Given the description of an element on the screen output the (x, y) to click on. 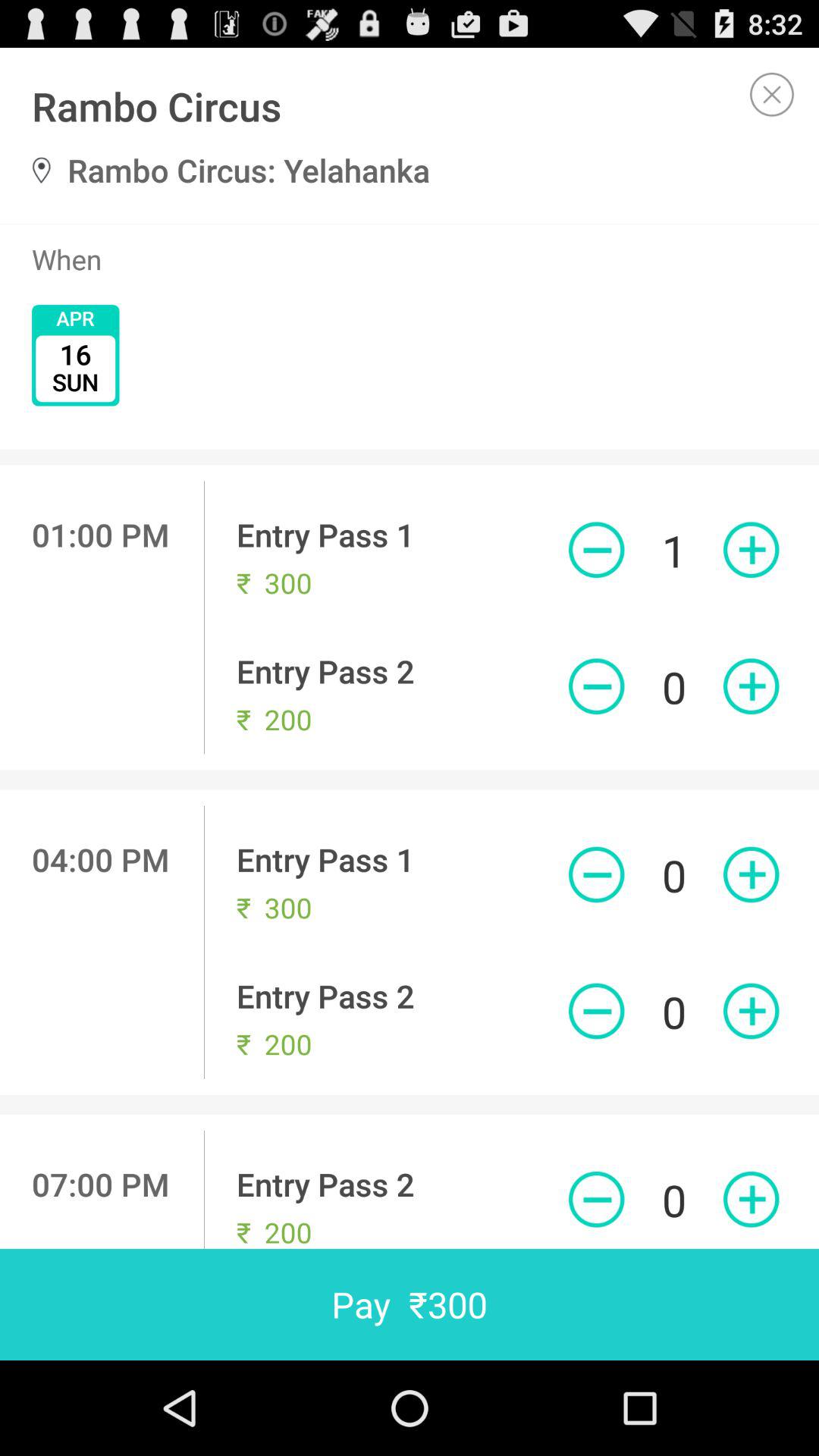
decrease quantity (596, 1011)
